Given the description of an element on the screen output the (x, y) to click on. 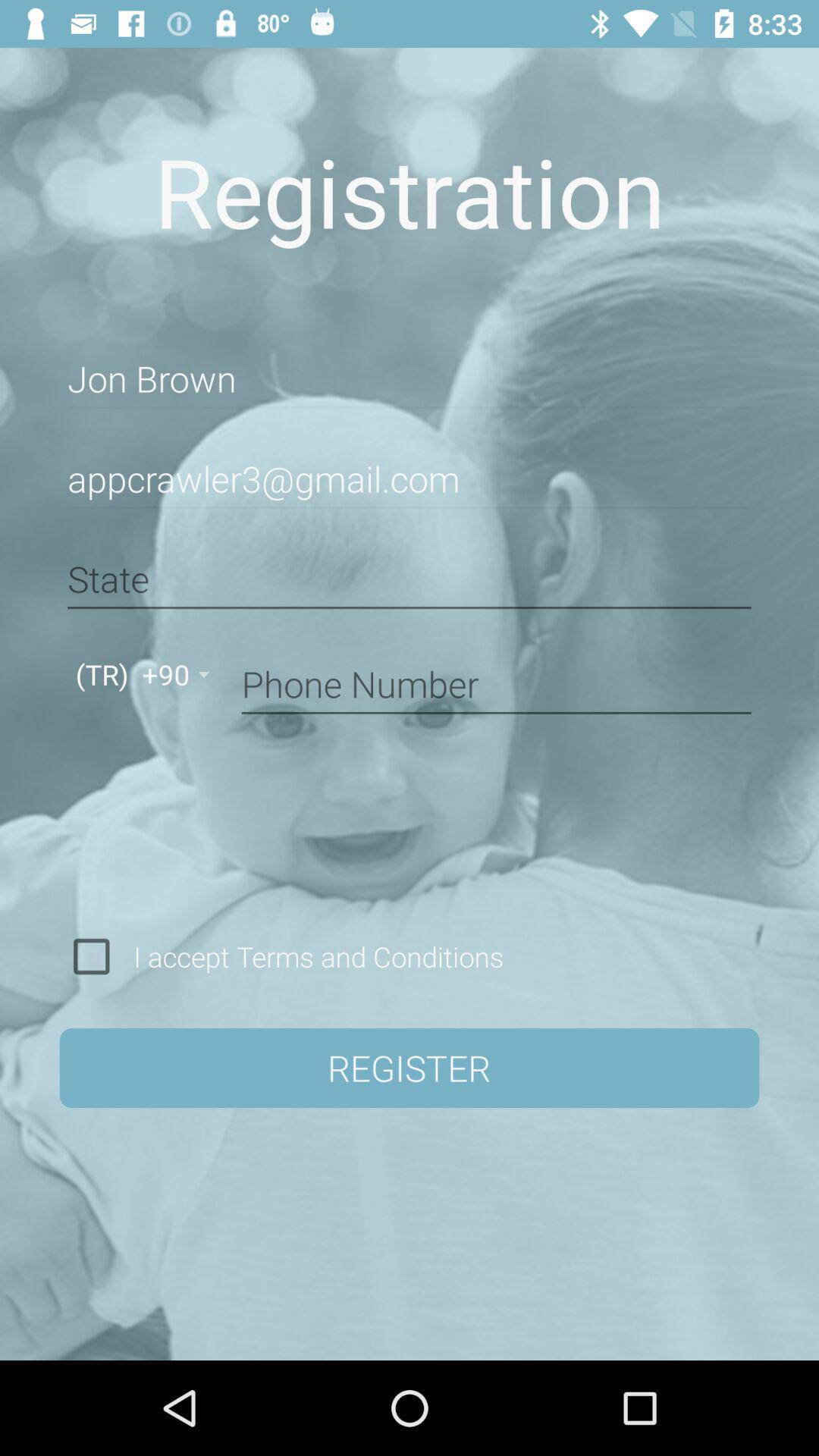
enter state name (409, 579)
